Given the description of an element on the screen output the (x, y) to click on. 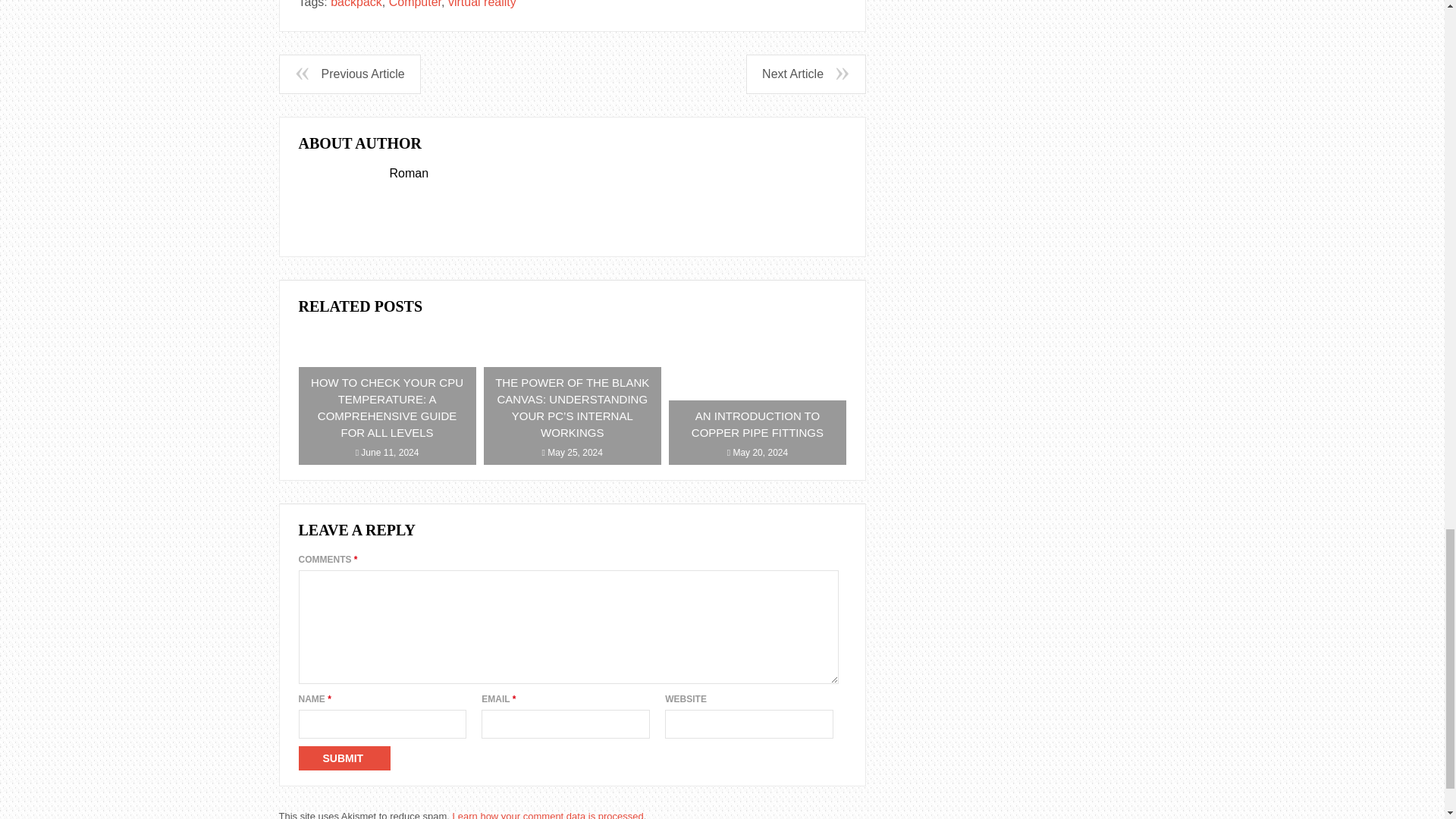
Submit  (344, 758)
Computer (414, 4)
virtual reality (482, 4)
backpack (355, 4)
Learn how your comment data is processed (547, 814)
Next Article (805, 74)
Submit  (344, 758)
Previous Article (349, 74)
